Given the description of an element on the screen output the (x, y) to click on. 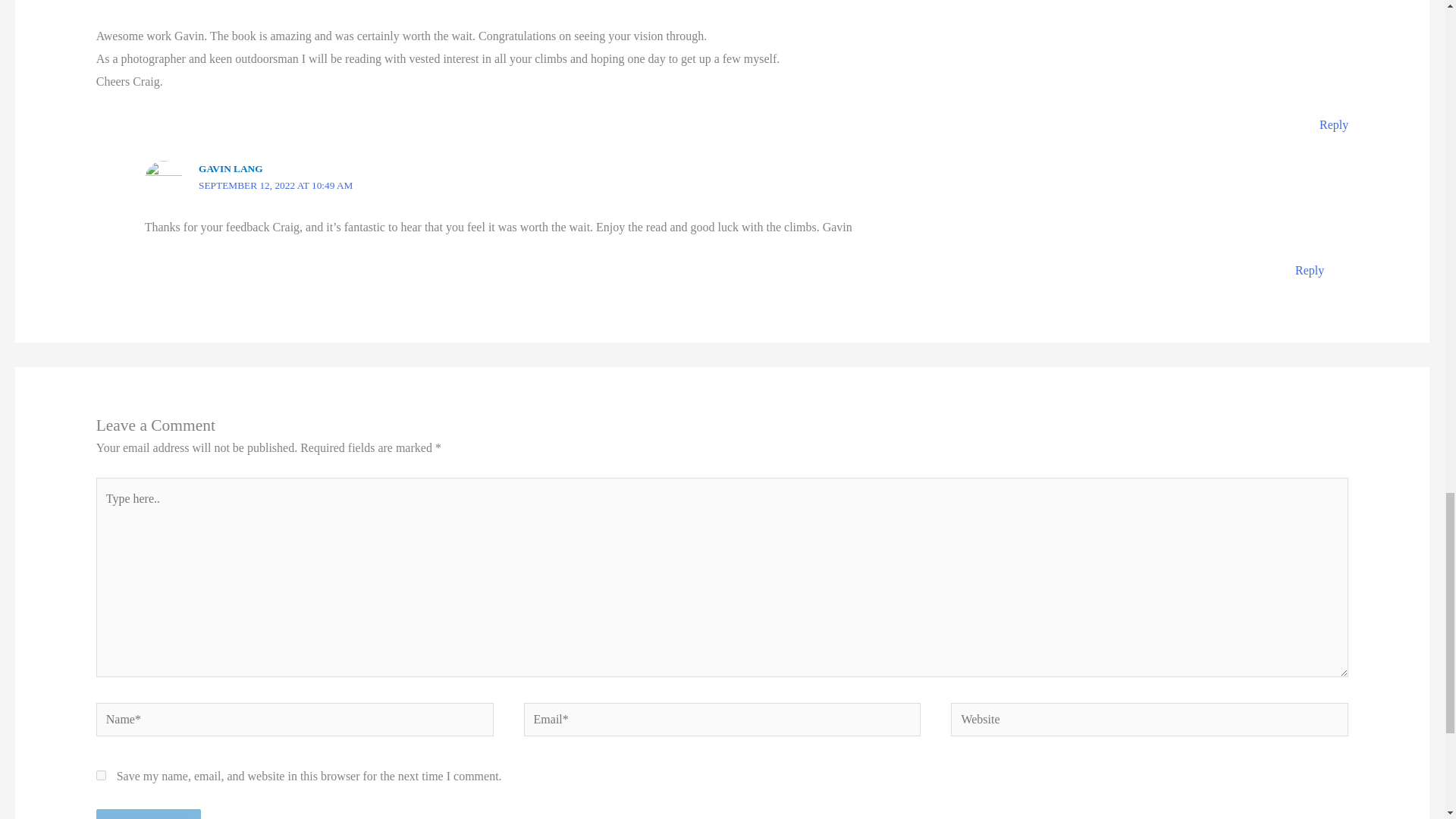
SEPTEMBER 12, 2022 AT 10:49 AM (275, 184)
Reply (1309, 269)
Reply (1333, 124)
yes (101, 775)
